Given the description of an element on the screen output the (x, y) to click on. 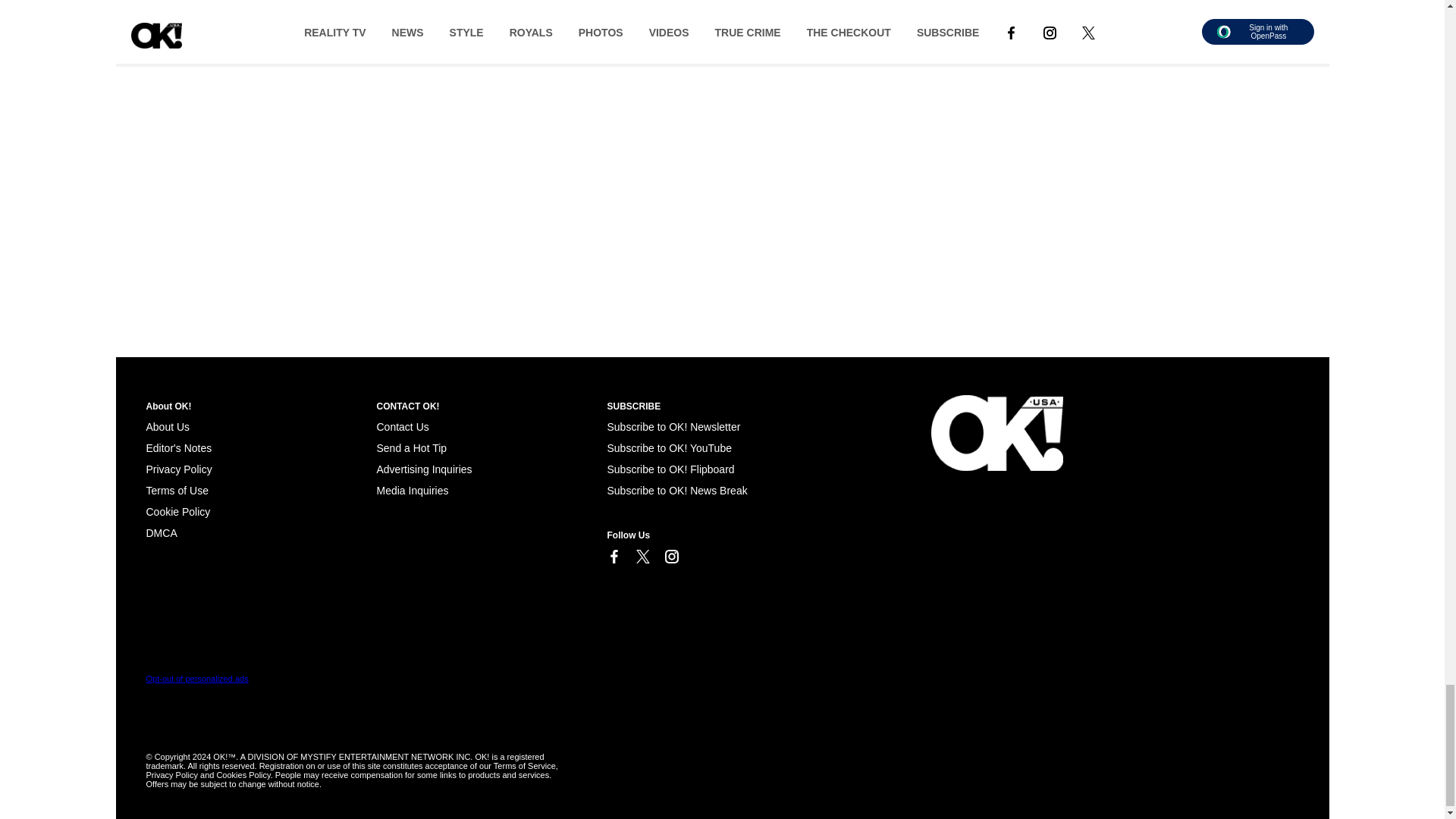
Link to X (641, 556)
About Us (167, 426)
Cookie Policy (177, 511)
Terms of Use (176, 490)
Link to Facebook (613, 556)
Editor's Notes (178, 448)
Link to Instagram (670, 556)
Privacy Policy (178, 469)
